Given the description of an element on the screen output the (x, y) to click on. 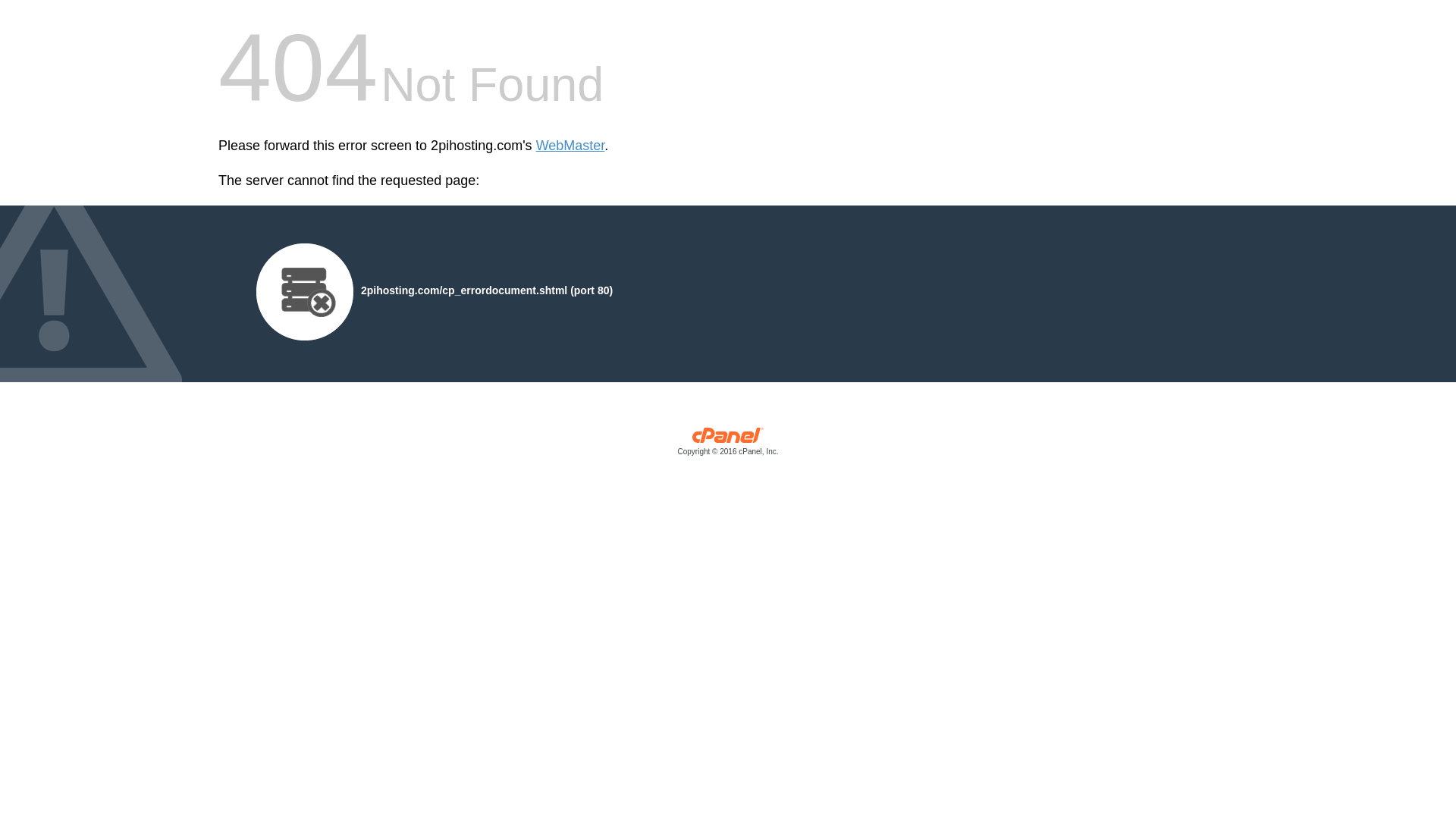
WebMaster Element type: text (570, 145)
